Given the description of an element on the screen output the (x, y) to click on. 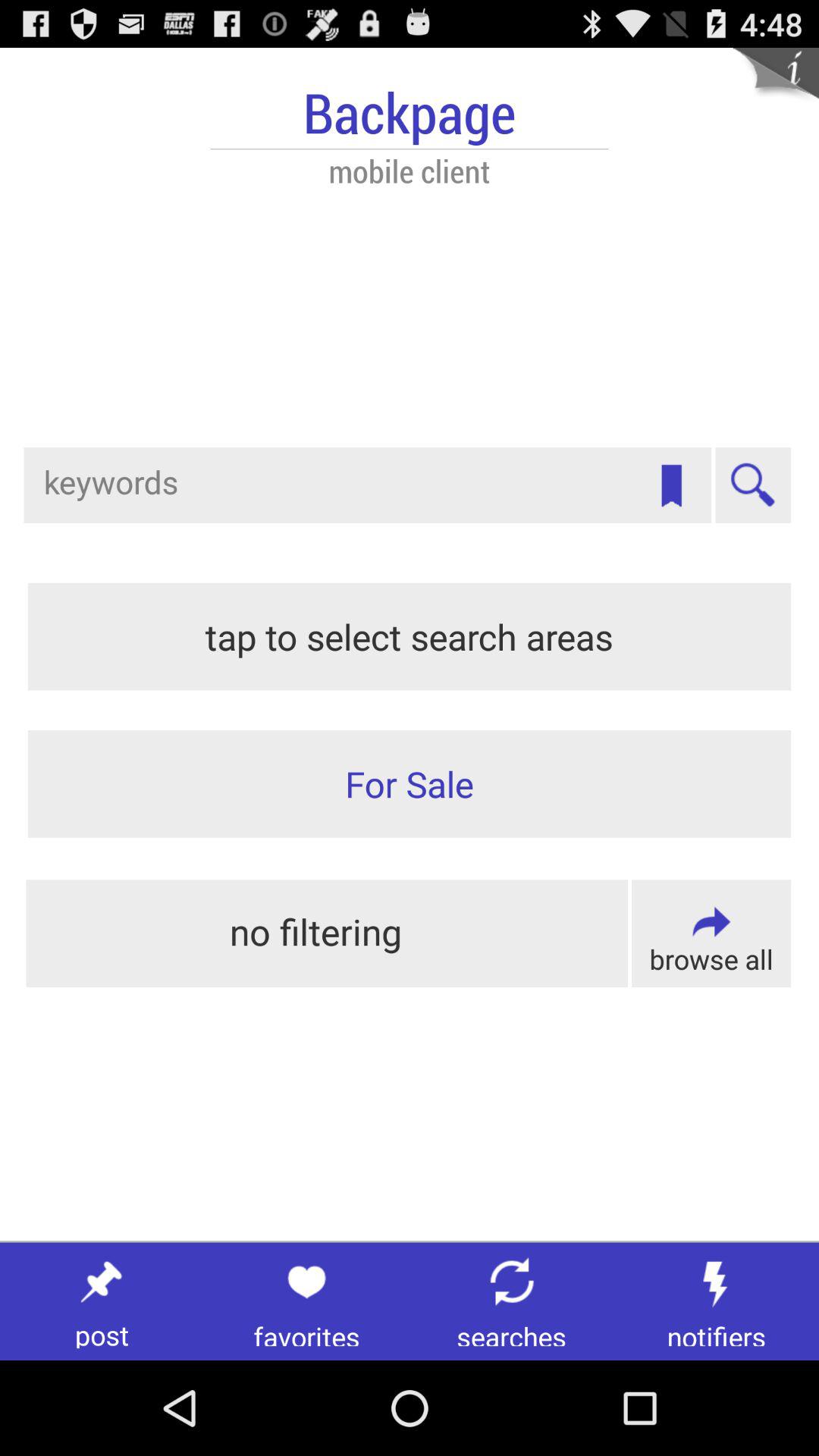
click the refresh button on the web page (511, 1281)
